Given the description of an element on the screen output the (x, y) to click on. 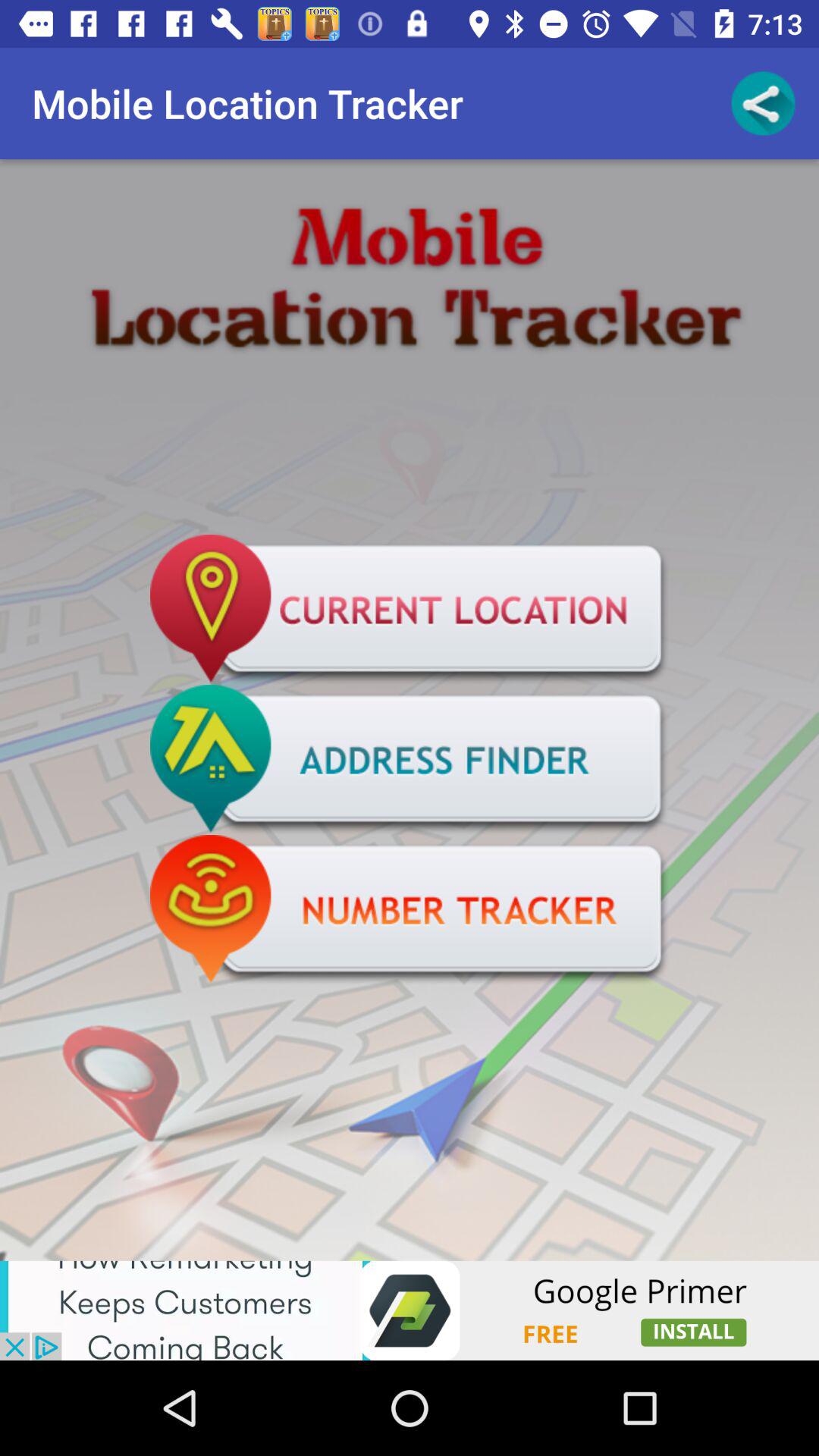
advertisement (409, 1310)
